Given the description of an element on the screen output the (x, y) to click on. 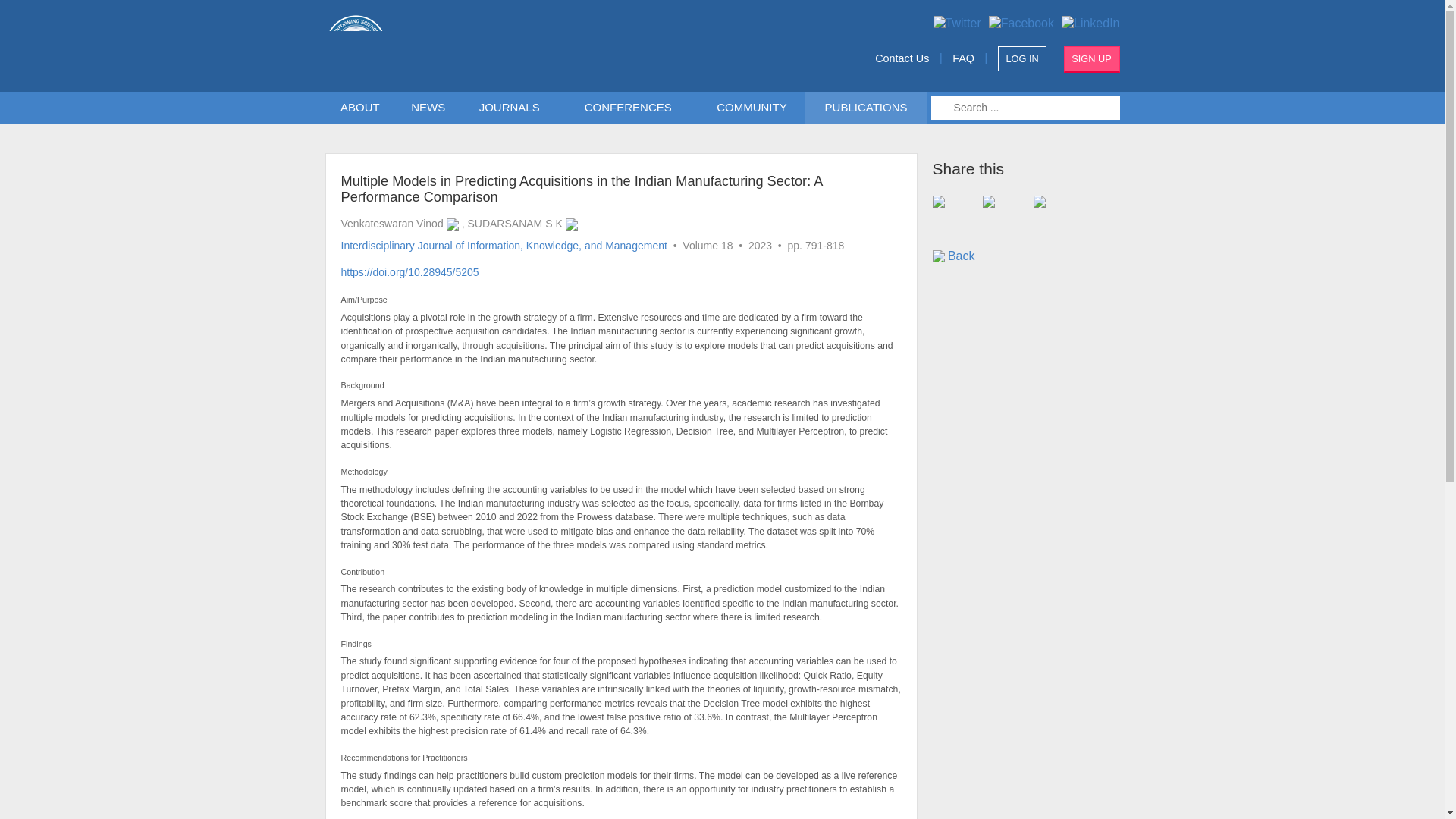
ISI Home (552, 45)
NEWS (428, 107)
FAQ (963, 58)
CONFERENCES   (631, 107)
COMMUNITY (751, 107)
PUBLICATIONS (865, 107)
ABOUT (360, 107)
JOURNALS   (512, 107)
LOG IN (1021, 58)
SIGN UP (1091, 58)
Contact Us (901, 58)
